Given the description of an element on the screen output the (x, y) to click on. 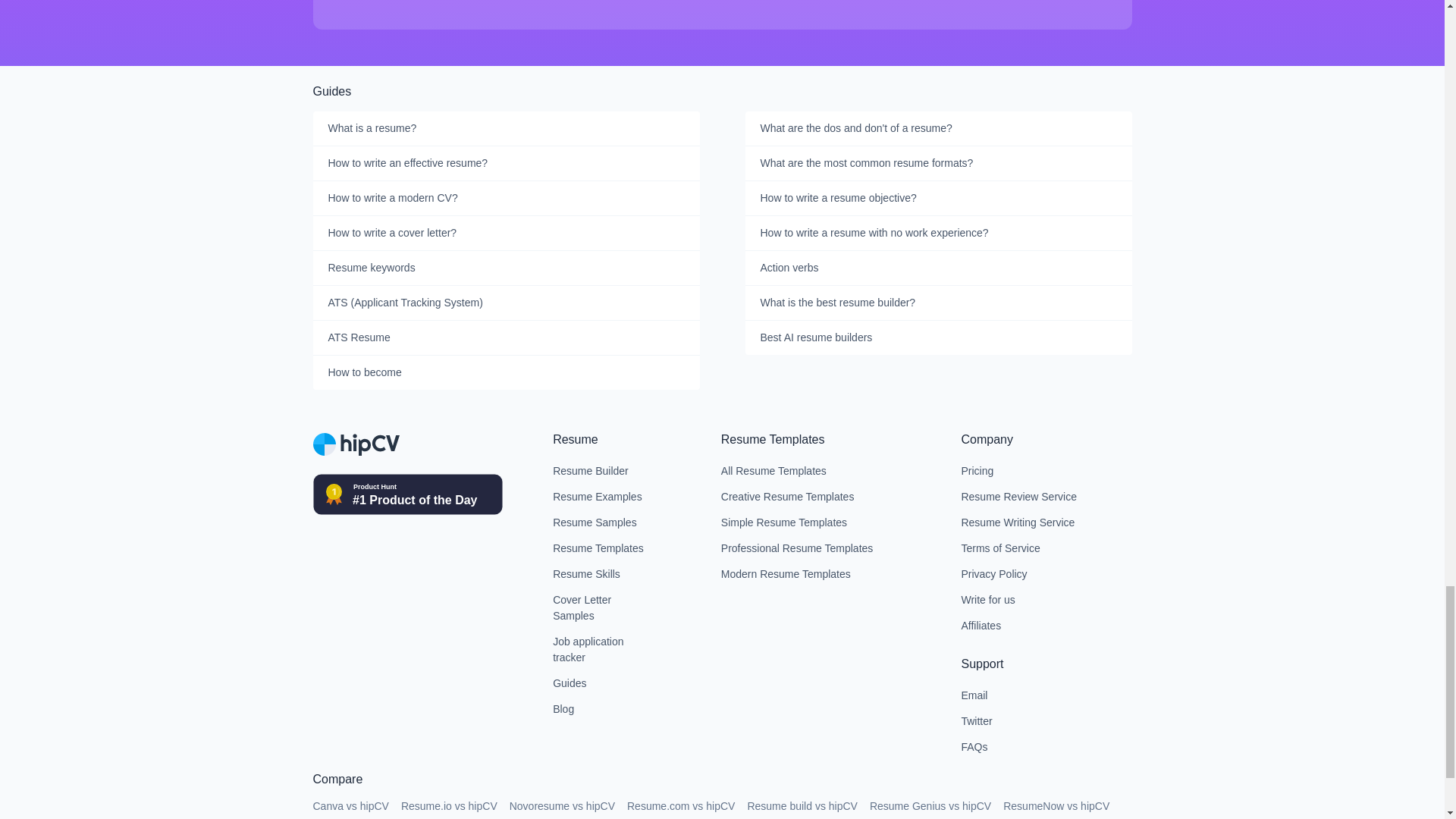
How to write a resume with no work experience? (937, 233)
Resume Examples (601, 497)
What are the most common resume formats? (937, 163)
How to write an effective resume? (505, 163)
Action verbs (937, 267)
Resume Samples (601, 523)
What are the dos and don't of a resume? (937, 128)
ATS Resume (505, 338)
How to write a resume objective? (937, 198)
Job application tracker (601, 649)
